Given the description of an element on the screen output the (x, y) to click on. 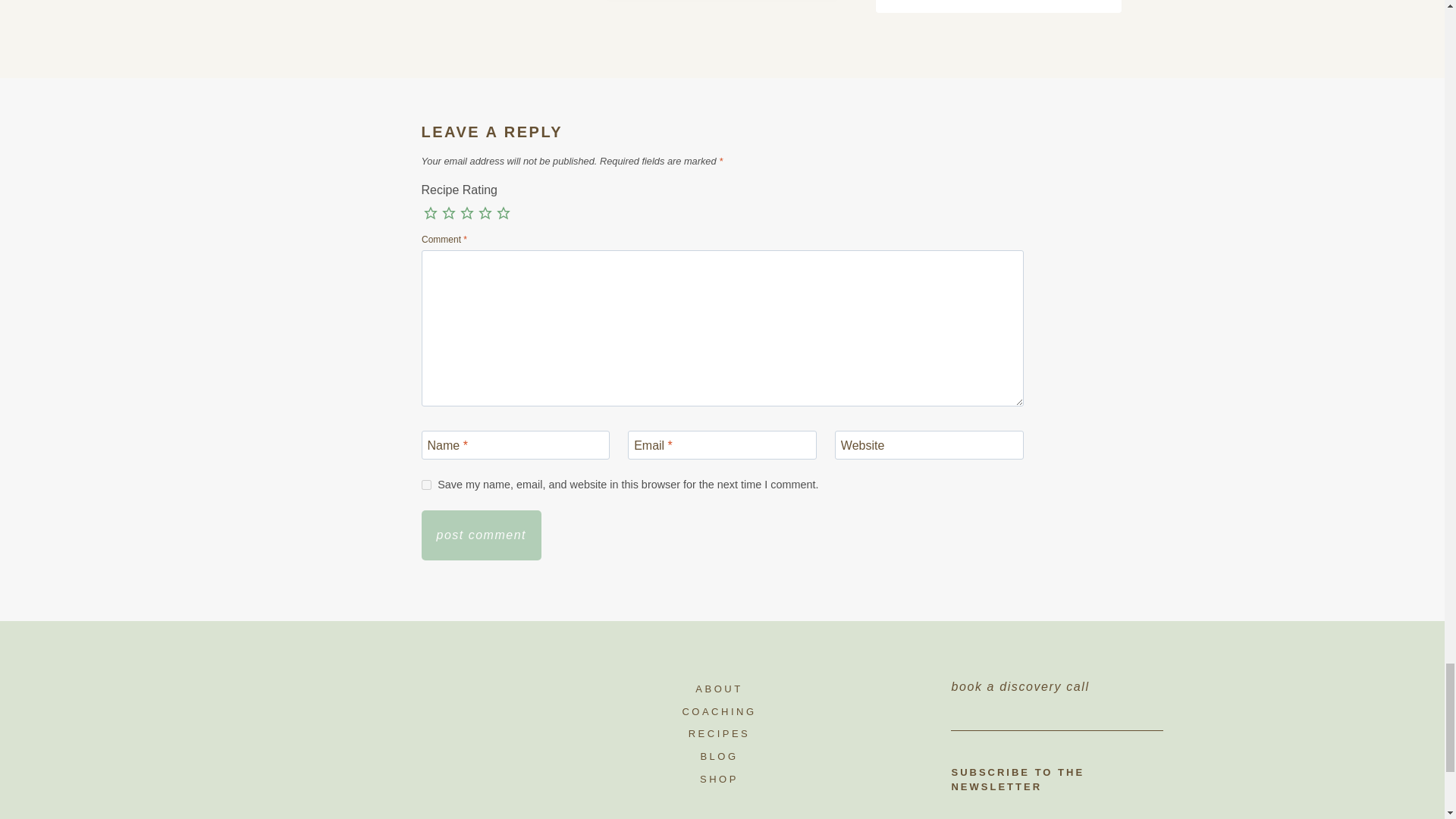
yes (426, 484)
Post Comment (481, 535)
